Given the description of an element on the screen output the (x, y) to click on. 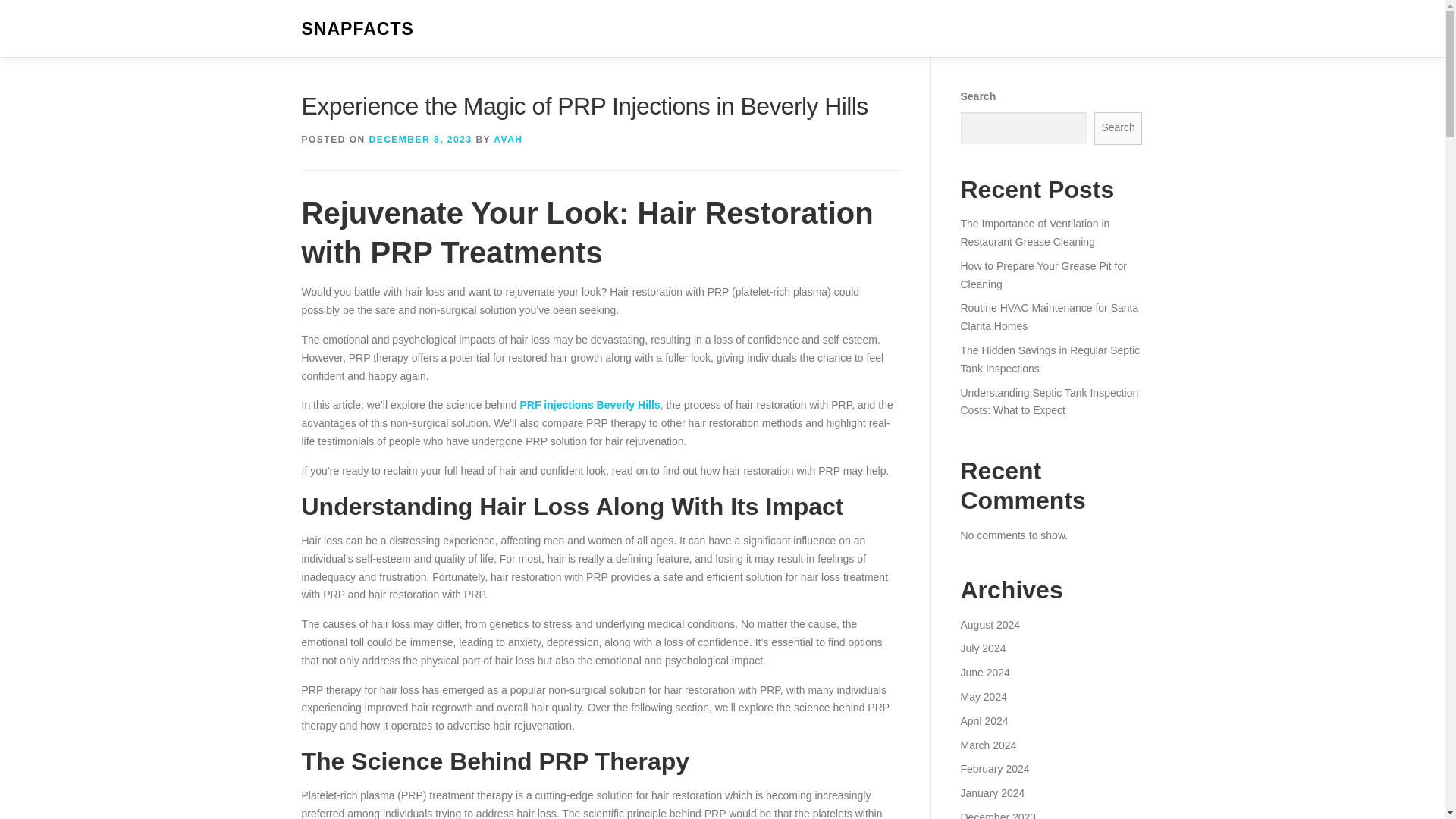
April 2024 (983, 720)
March 2024 (987, 744)
June 2024 (984, 672)
February 2024 (994, 768)
SNAPFACTS (357, 29)
Understanding Septic Tank Inspection Costs: What to Expect (1048, 401)
The Hidden Savings in Regular Septic Tank Inspections (1049, 358)
January 2024 (992, 793)
July 2024 (982, 648)
The Importance of Ventilation in Restaurant Grease Cleaning (1034, 232)
August 2024 (989, 624)
December 2023 (997, 815)
May 2024 (982, 696)
How to Prepare Your Grease Pit for Cleaning (1042, 275)
AVAH (507, 139)
